Given the description of an element on the screen output the (x, y) to click on. 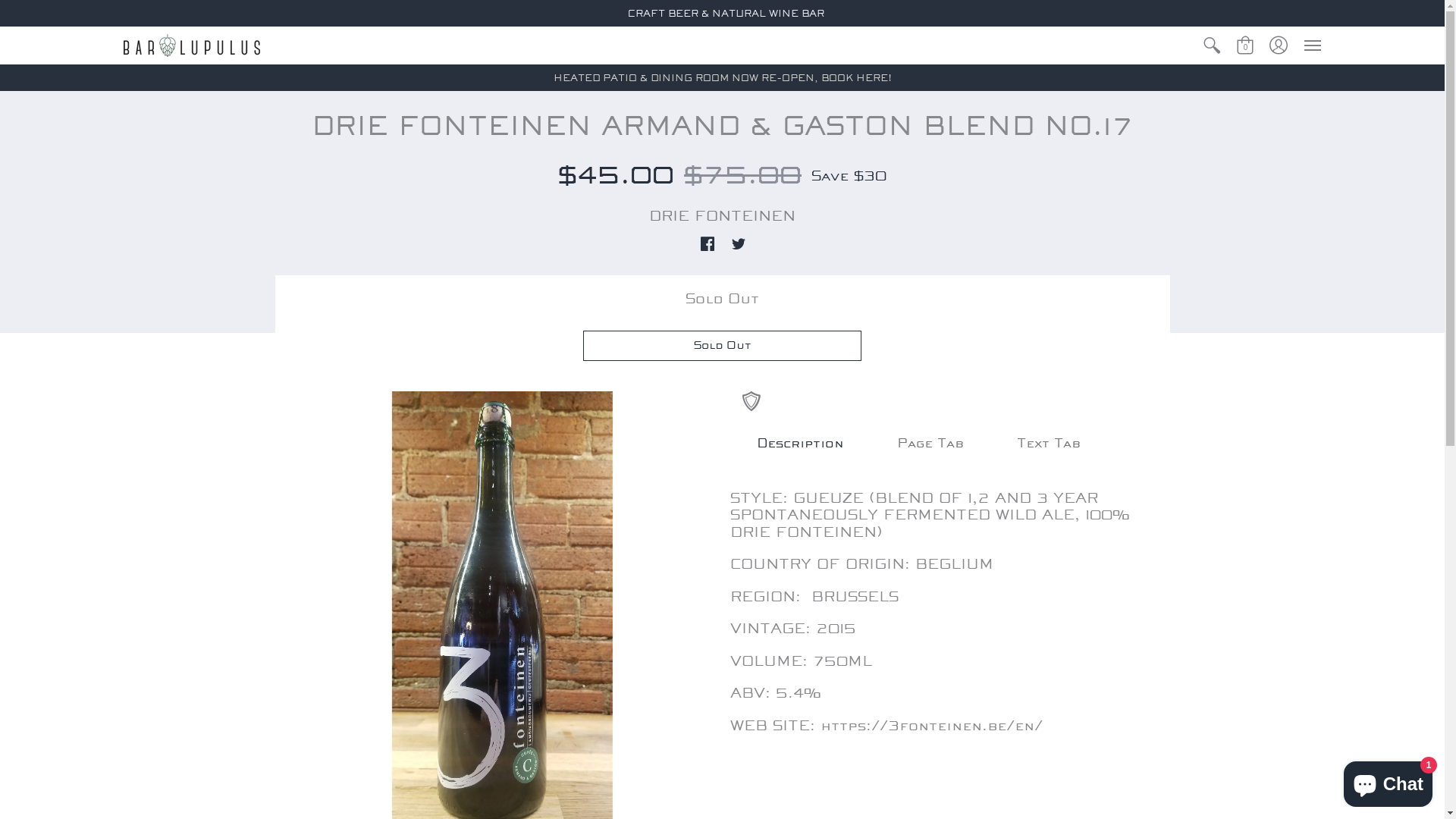
https://3fonteinen.be/en/ Element type: text (931, 725)
Log in Element type: hover (1278, 45)
DRIE FONTEINEN Element type: text (722, 215)
HEATED PATIO & DINING ROOM NOW RE-OPEN, BOOK HERE! Element type: text (722, 77)
Description Element type: text (799, 443)
Shopify online store chat Element type: hover (1388, 780)
Search Element type: hover (1211, 45)
barlupulus Element type: hover (190, 45)
Sold Out Element type: text (722, 345)
Page Tab Element type: text (930, 443)
Text Tab Element type: text (1048, 443)
0 Element type: text (1244, 45)
